Given the description of an element on the screen output the (x, y) to click on. 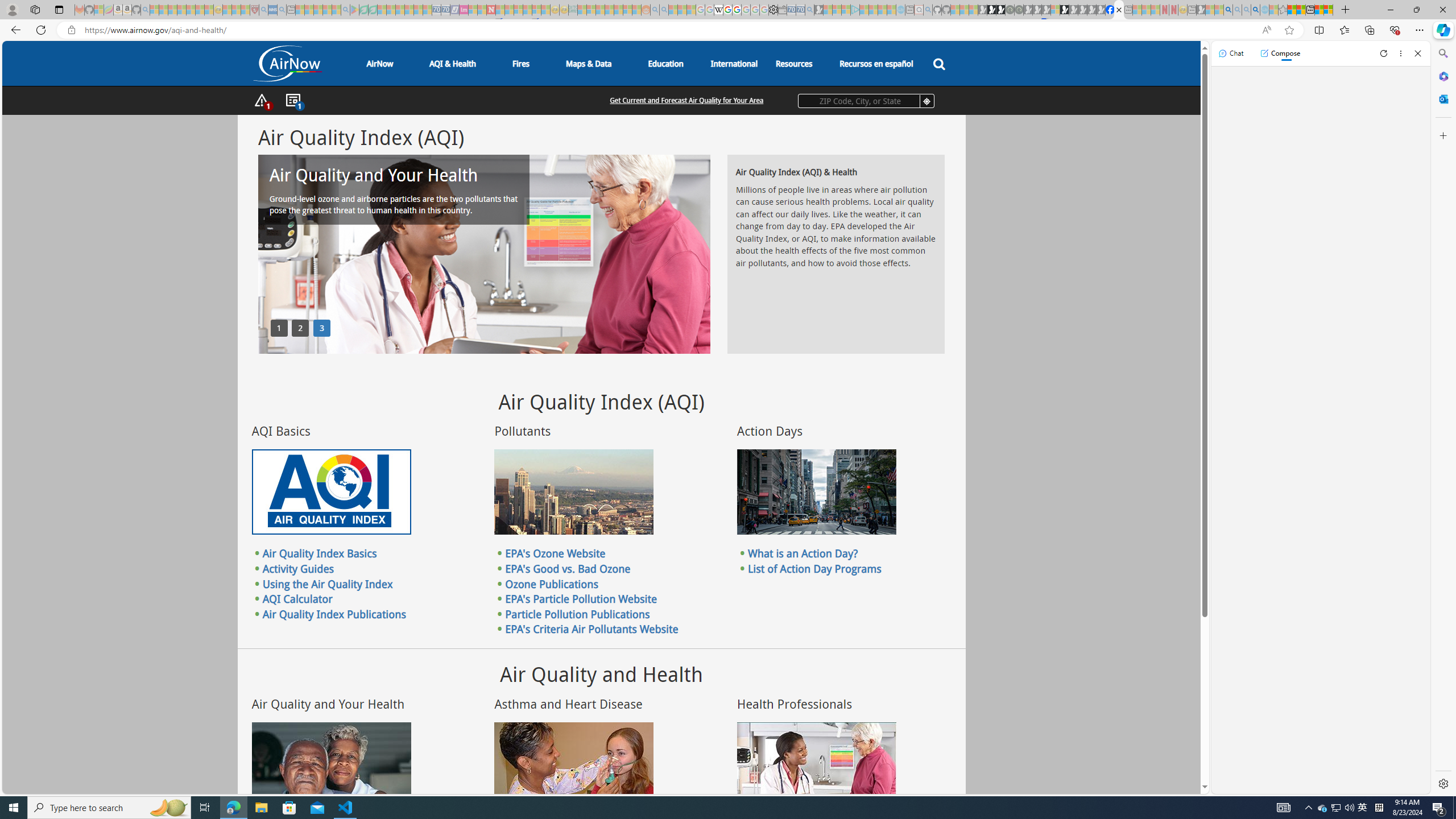
EPA's Criteria Air Pollutants Website (591, 629)
2 (299, 327)
Terms of Use Agreement - Sleeping (362, 9)
3 (321, 327)
AQI Calculator (297, 598)
EPA's Good vs. Bad Ozone (567, 568)
Microsoft Start Gaming - Sleeping (818, 9)
Kinda Frugal - MSN - Sleeping (617, 9)
Compose (1279, 52)
